Given the description of an element on the screen output the (x, y) to click on. 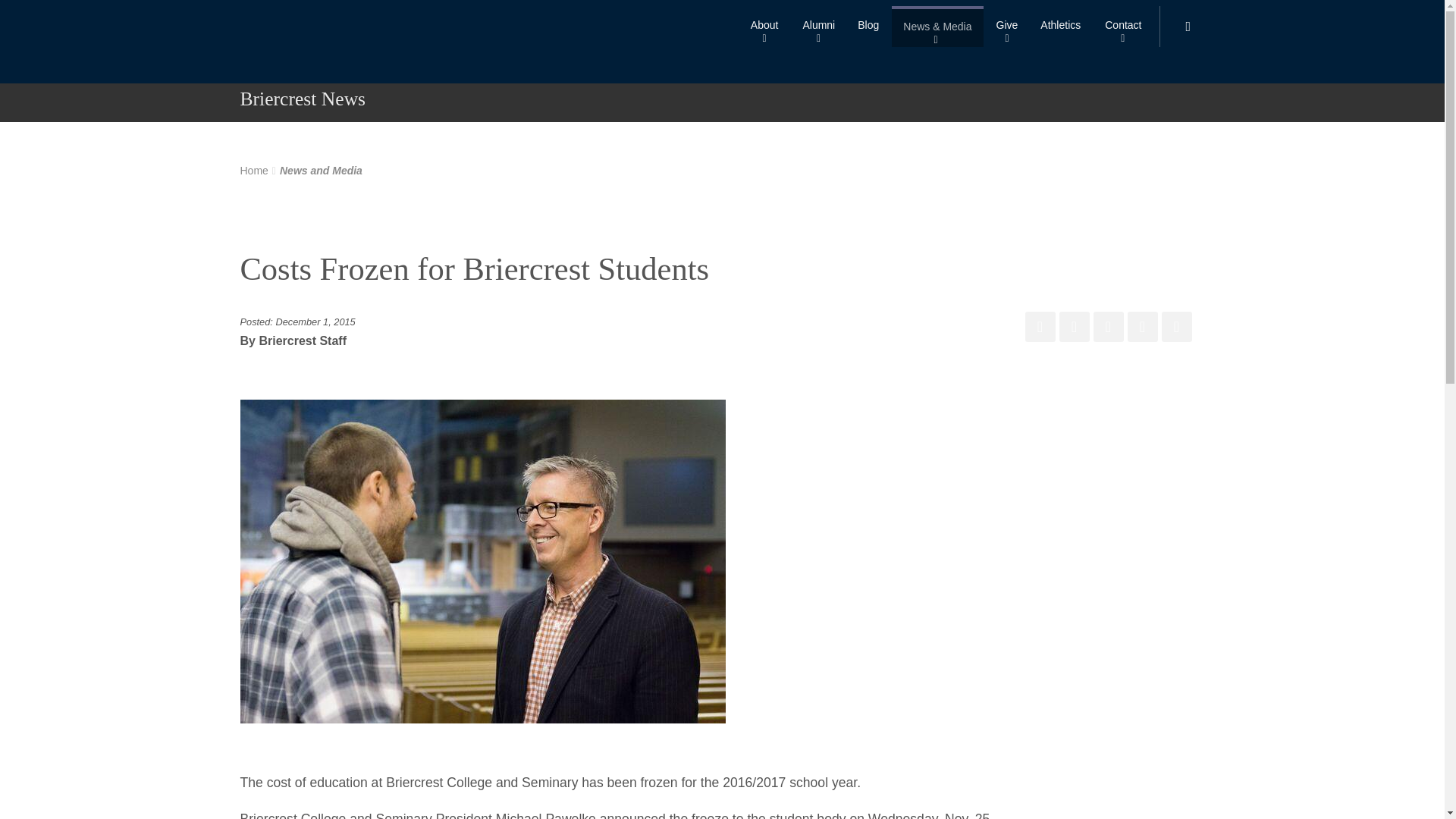
Contact (1123, 26)
Athletics (1060, 26)
About (764, 26)
Alumni (817, 26)
About (764, 26)
email a link to this (1176, 327)
share this to Pinterest (1108, 327)
Athletics (1060, 26)
Blog (867, 26)
share this to my Facebook page (1040, 327)
share this to my Twitter account (1073, 327)
Give (1007, 26)
Alumni (817, 26)
Contact (1123, 26)
